Given the description of an element on the screen output the (x, y) to click on. 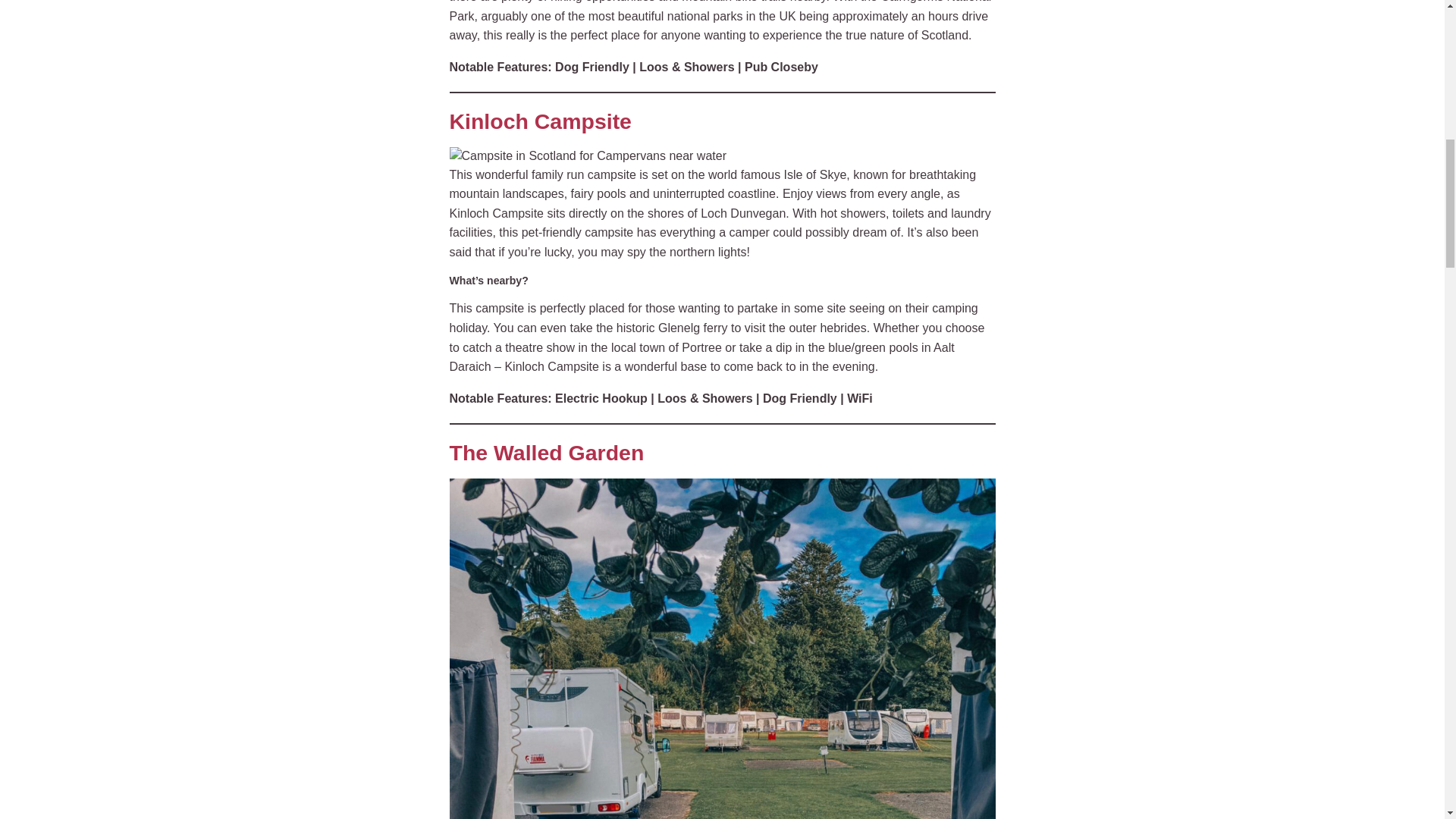
Kinloch Campsite (587, 156)
